Given the description of an element on the screen output the (x, y) to click on. 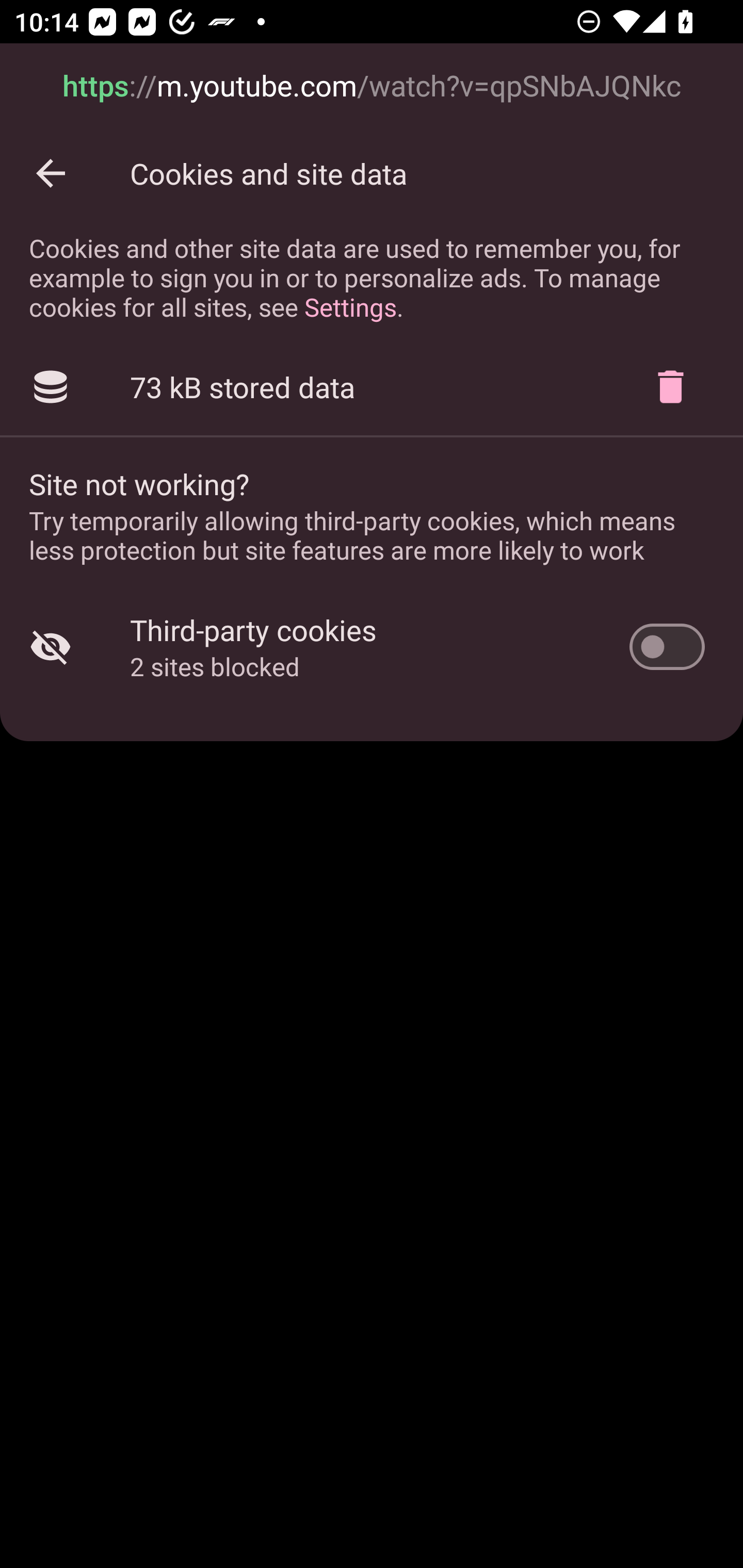
https://m.youtube.com/watch?v=qpSNbAJQNkc (371, 86)
Back (50, 173)
73 kB stored data Delete cookies? (371, 386)
Third-party cookies 2 sites blocked (371, 646)
